Given the description of an element on the screen output the (x, y) to click on. 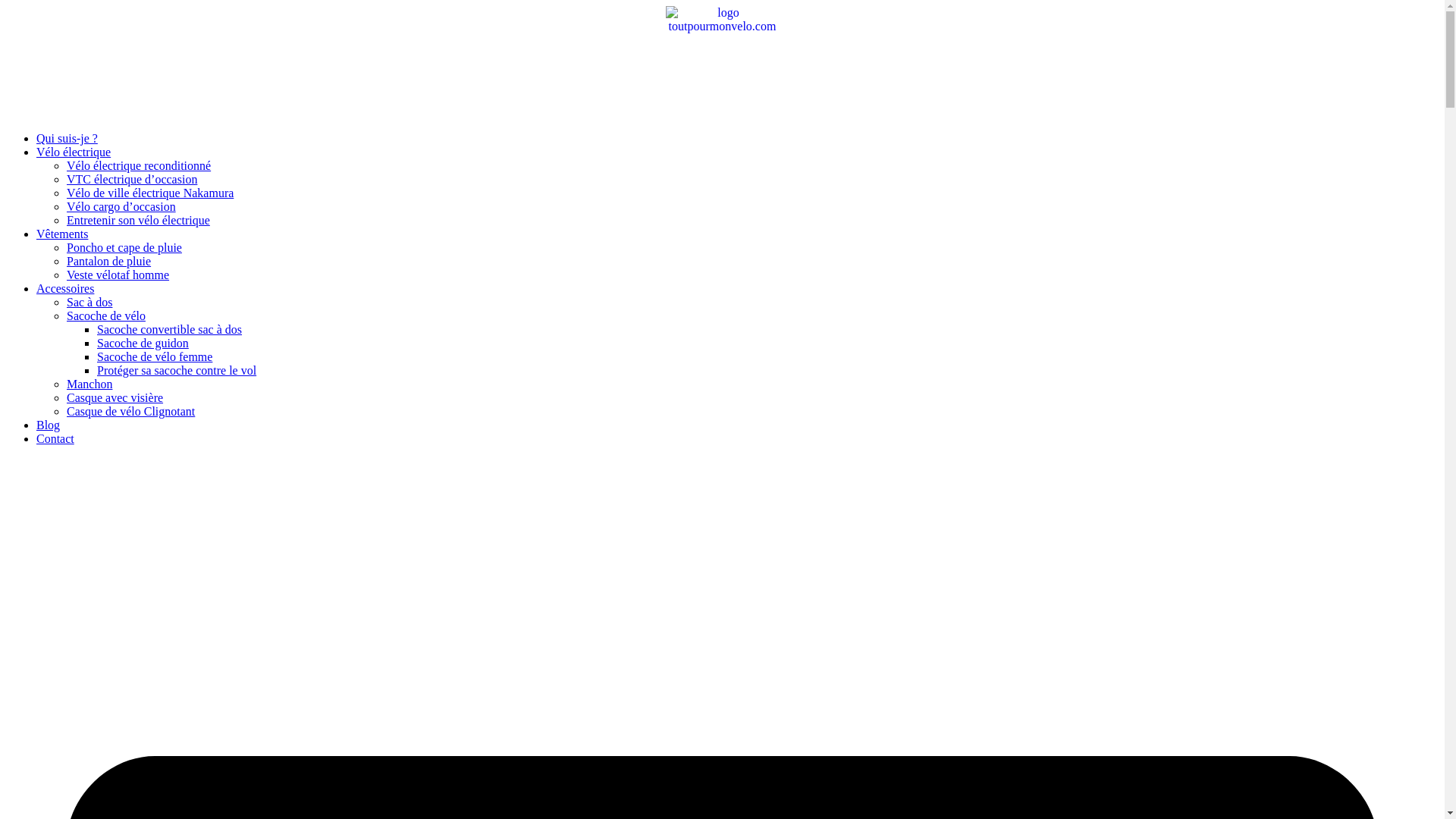
Manchon (89, 383)
Qui suis-je ? (66, 137)
Contact (55, 438)
Poncho et cape de pluie (124, 246)
Pantalon de pluie (108, 260)
Sacoche de guidon (143, 342)
Blog (47, 424)
Accessoires (65, 287)
